Given the description of an element on the screen output the (x, y) to click on. 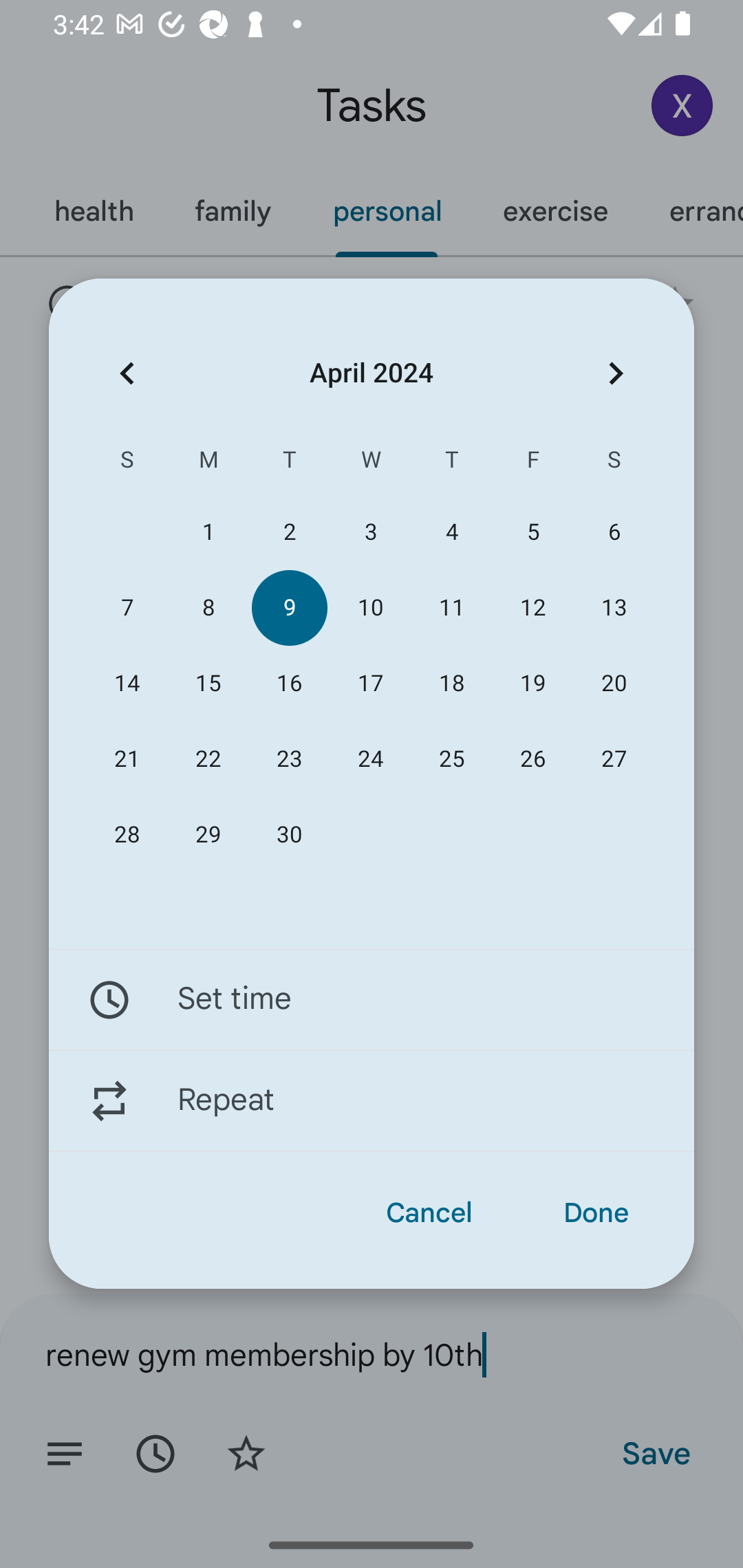
Previous month (126, 372)
Next month (615, 372)
1 01 April 2024 (207, 531)
2 02 April 2024 (288, 531)
3 03 April 2024 (370, 531)
4 04 April 2024 (451, 531)
5 05 April 2024 (532, 531)
6 06 April 2024 (613, 531)
7 07 April 2024 (126, 608)
8 08 April 2024 (207, 608)
9 09 April 2024 (288, 608)
10 10 April 2024 (370, 608)
11 11 April 2024 (451, 608)
12 12 April 2024 (532, 608)
13 13 April 2024 (613, 608)
14 14 April 2024 (126, 683)
15 15 April 2024 (207, 683)
16 16 April 2024 (288, 683)
17 17 April 2024 (370, 683)
18 18 April 2024 (451, 683)
19 19 April 2024 (532, 683)
20 20 April 2024 (613, 683)
21 21 April 2024 (126, 758)
22 22 April 2024 (207, 758)
23 23 April 2024 (288, 758)
24 24 April 2024 (370, 758)
25 25 April 2024 (451, 758)
26 26 April 2024 (532, 758)
27 27 April 2024 (613, 758)
28 28 April 2024 (126, 834)
29 29 April 2024 (207, 834)
30 30 April 2024 (288, 834)
Set time (371, 999)
Repeat (371, 1101)
Cancel (429, 1213)
Done (595, 1213)
